Given the description of an element on the screen output the (x, y) to click on. 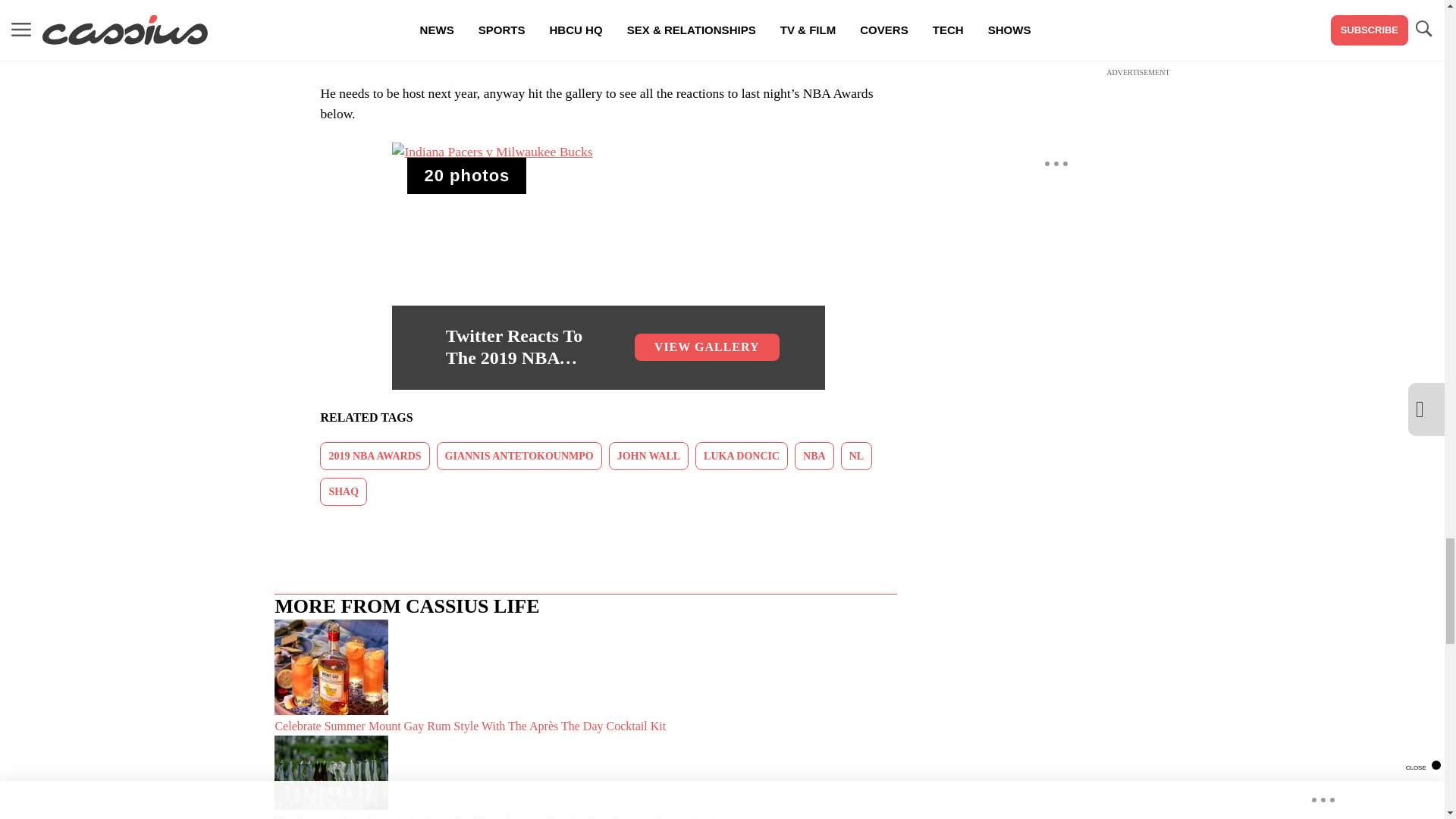
2019 NBA AWARDS (374, 456)
LUKA DONCIC (741, 456)
JOHN WALL (648, 456)
GIANNIS ANTETOKOUNMPO (519, 456)
NBA (814, 456)
SHAQ (343, 491)
NL (856, 456)
Media Playlist (466, 176)
